Given the description of an element on the screen output the (x, y) to click on. 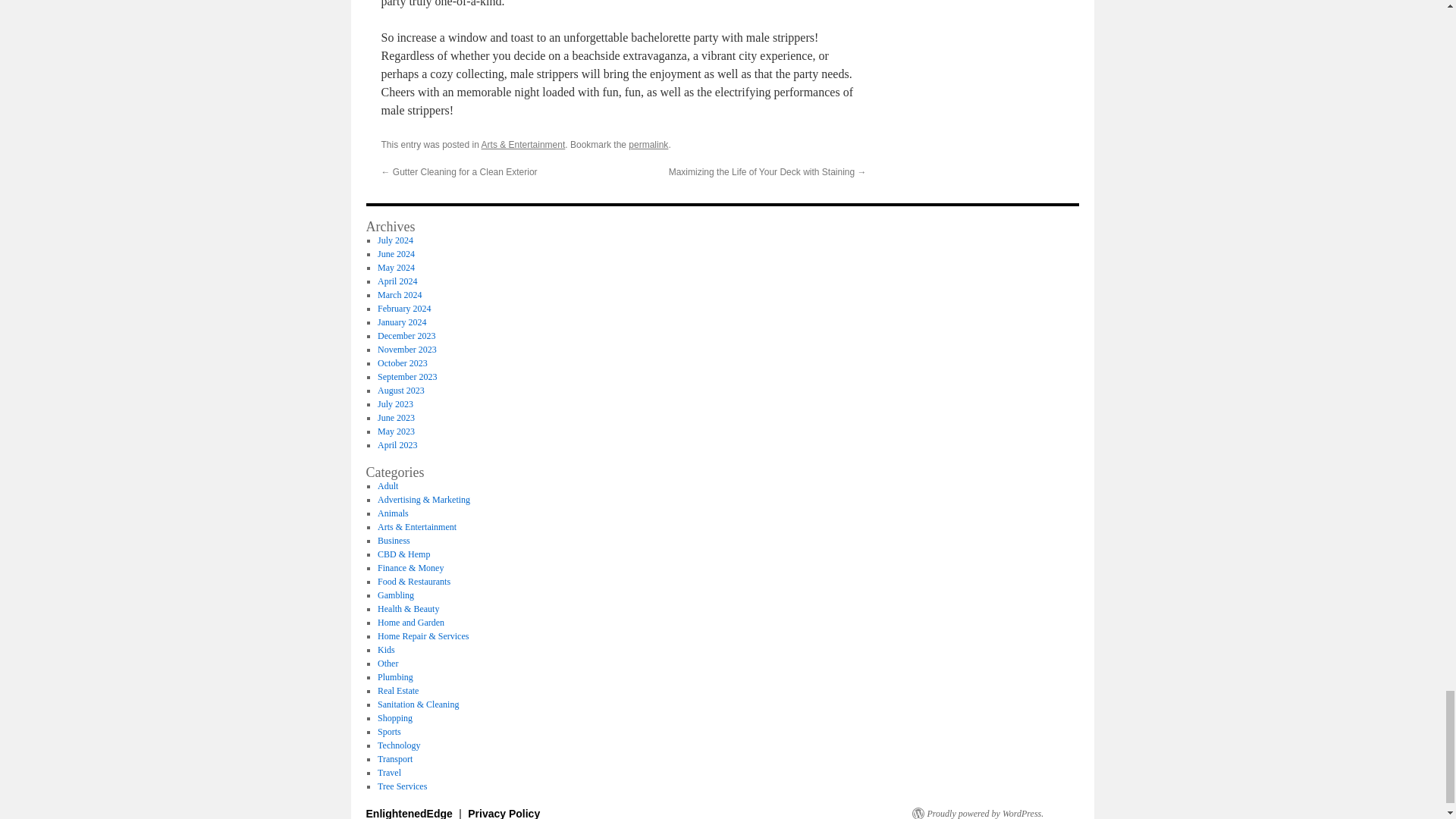
July 2023 (395, 403)
May 2023 (395, 430)
April 2024 (396, 281)
July 2024 (395, 240)
June 2024 (395, 253)
April 2023 (396, 444)
August 2023 (401, 389)
March 2024 (399, 294)
Adult (387, 485)
October 2023 (402, 362)
November 2023 (406, 348)
February 2024 (403, 308)
Permalink to Elevate Your Party with a Male Stripper (648, 144)
January 2024 (401, 321)
September 2023 (406, 376)
